Given the description of an element on the screen output the (x, y) to click on. 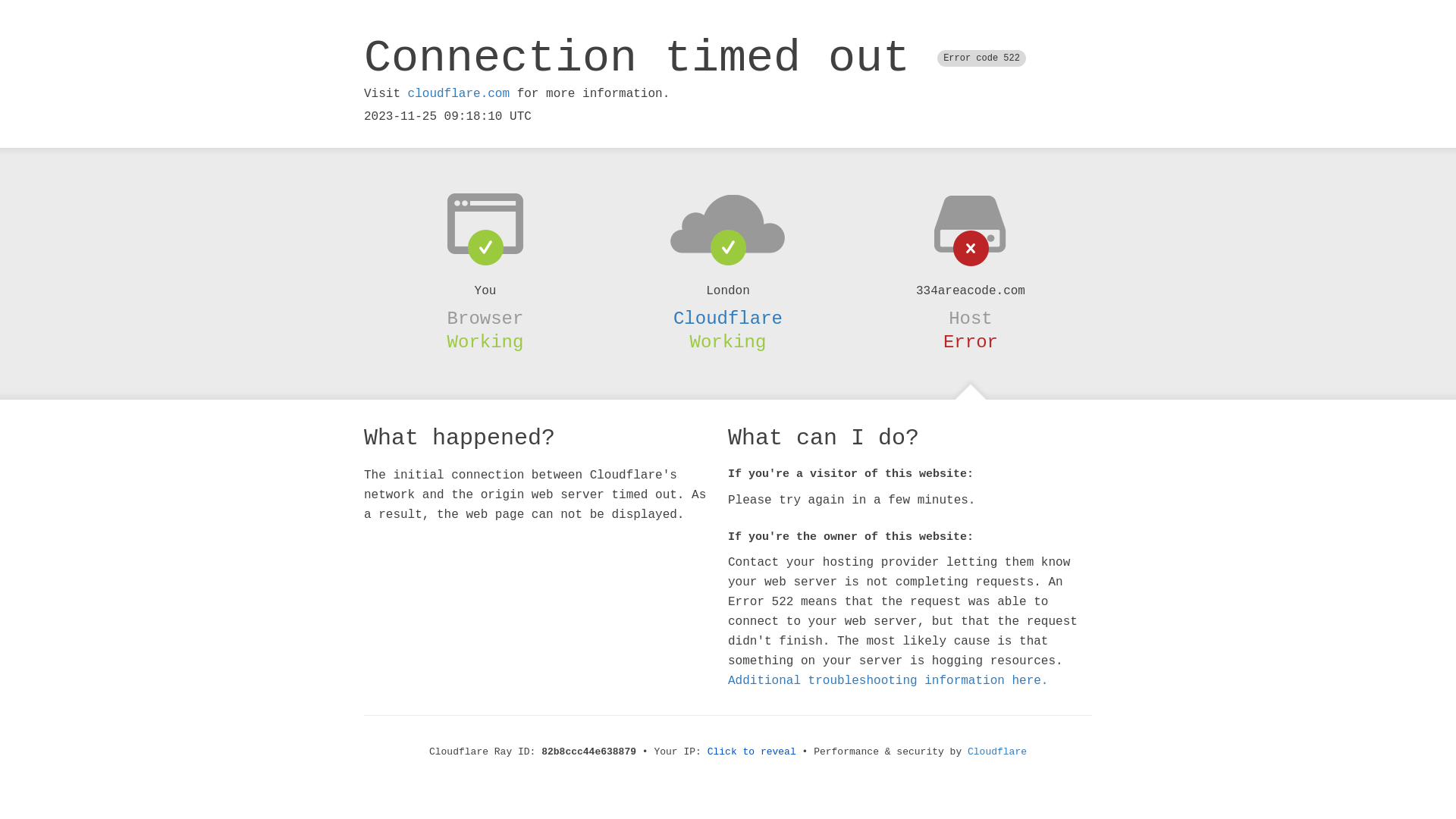
Cloudflare Element type: text (727, 318)
Additional troubleshooting information here. Element type: text (888, 680)
cloudflare.com Element type: text (458, 93)
Click to reveal Element type: text (751, 751)
Cloudflare Element type: text (996, 751)
